Given the description of an element on the screen output the (x, y) to click on. 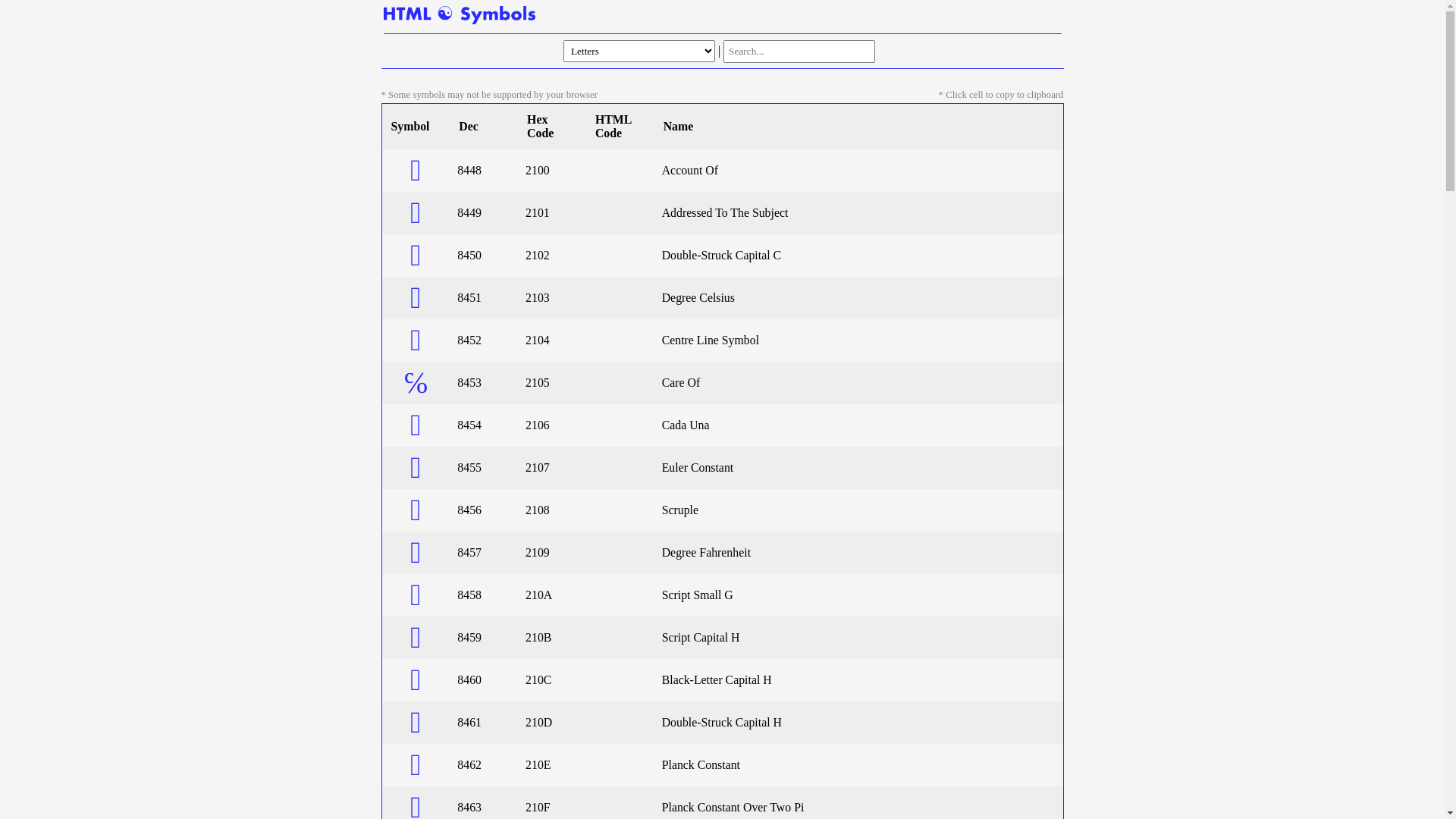
Home Page Element type: hover (459, 15)
